Given the description of an element on the screen output the (x, y) to click on. 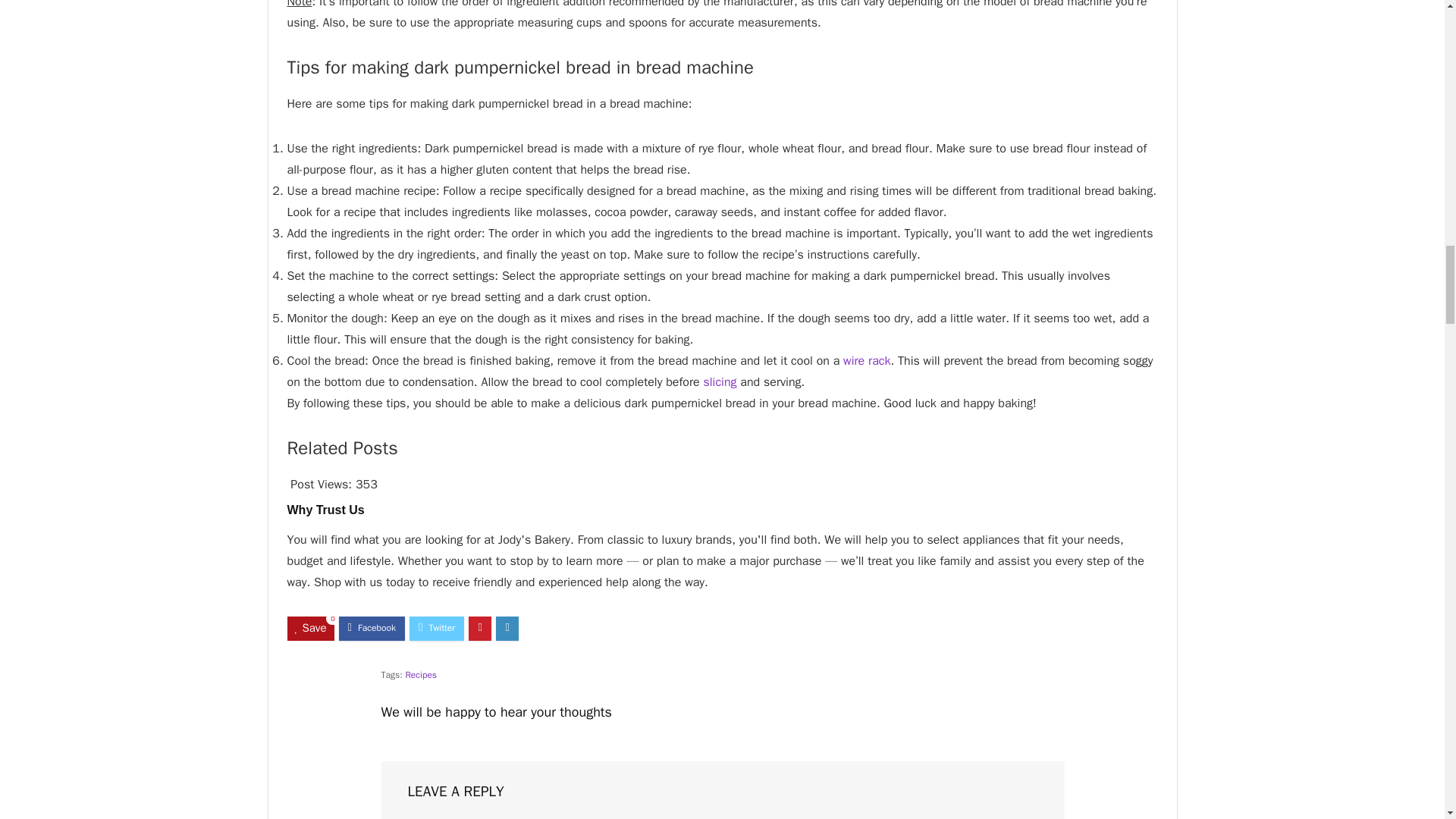
Recipes (420, 674)
slicing (719, 381)
wire rack (866, 360)
